Given the description of an element on the screen output the (x, y) to click on. 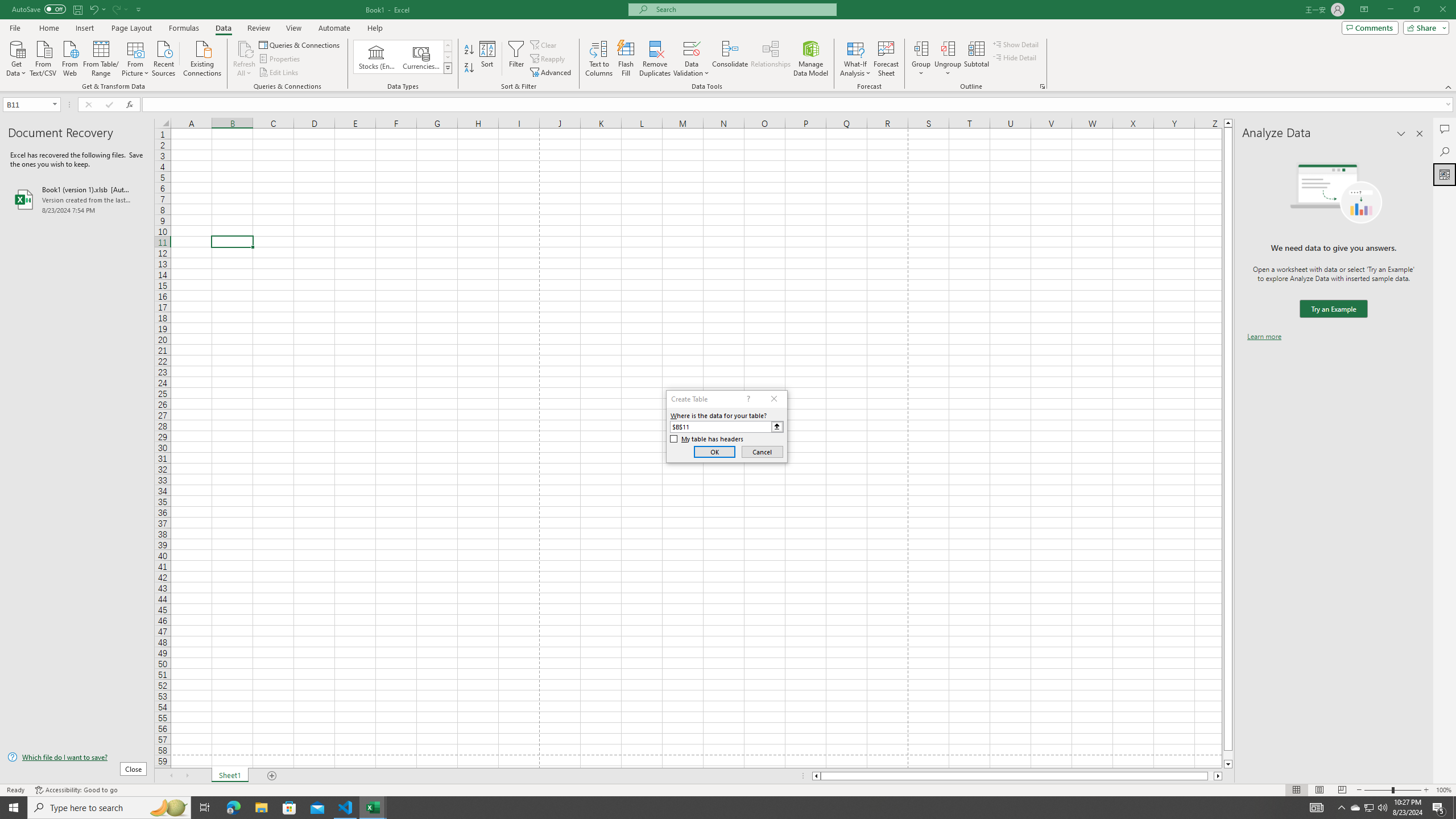
Reapply (548, 58)
Consolidate... (729, 58)
Sort... (487, 58)
Currencies (English) (420, 56)
